Given the description of an element on the screen output the (x, y) to click on. 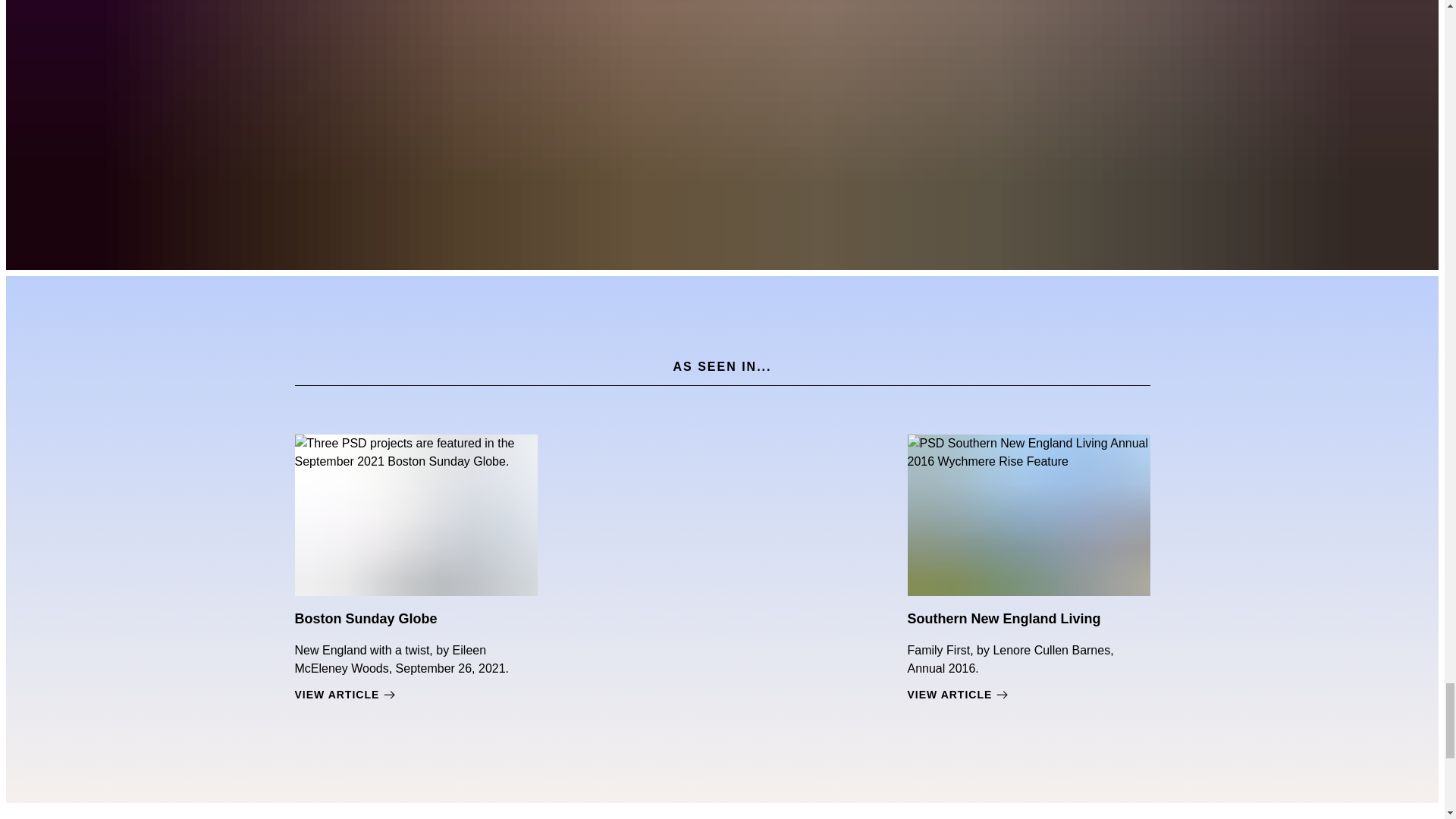
VIEW ARTICLE (415, 694)
VIEW ARTICLE (1028, 694)
